Given the description of an element on the screen output the (x, y) to click on. 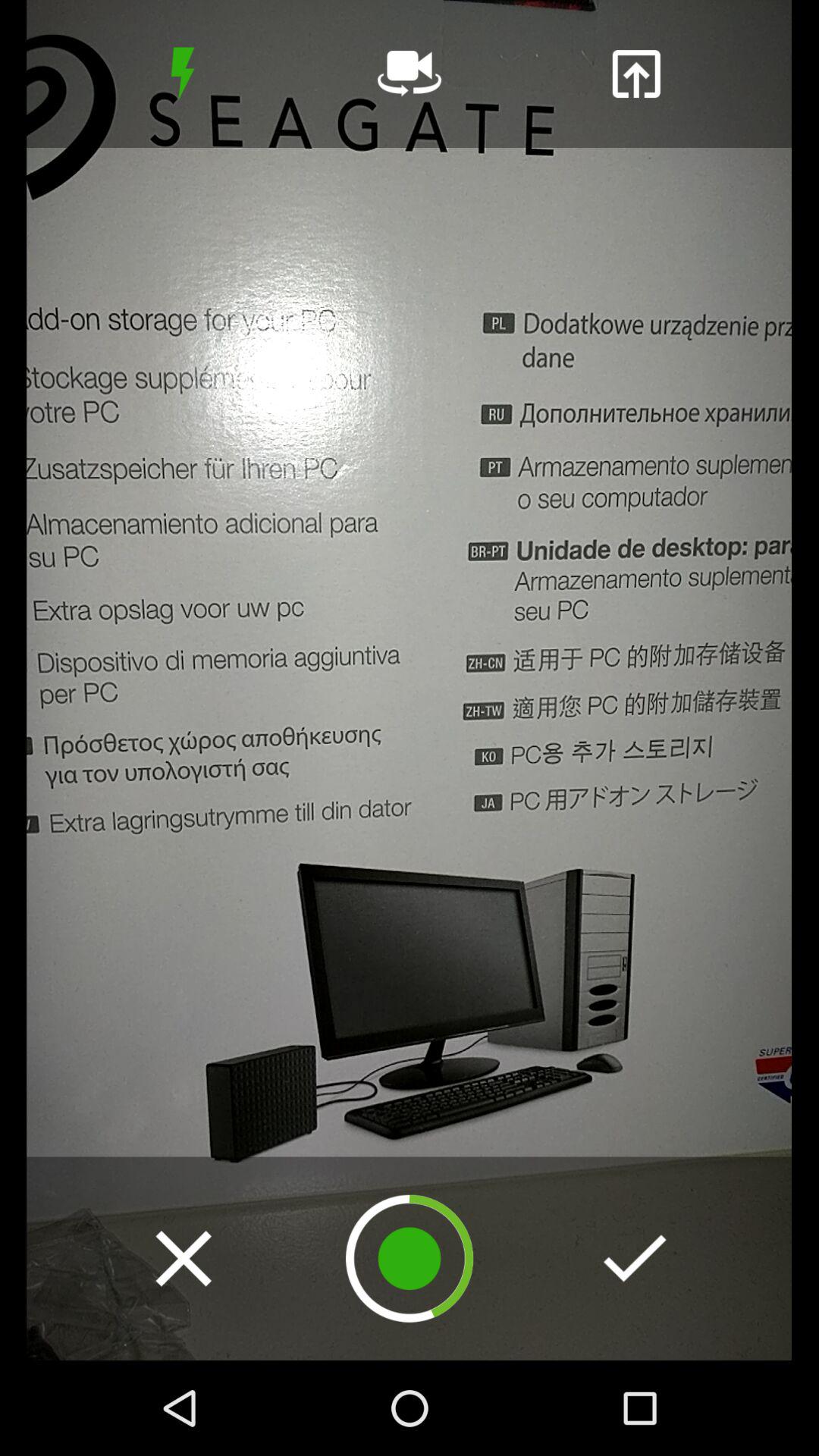
delete previous segment (183, 1258)
